Given the description of an element on the screen output the (x, y) to click on. 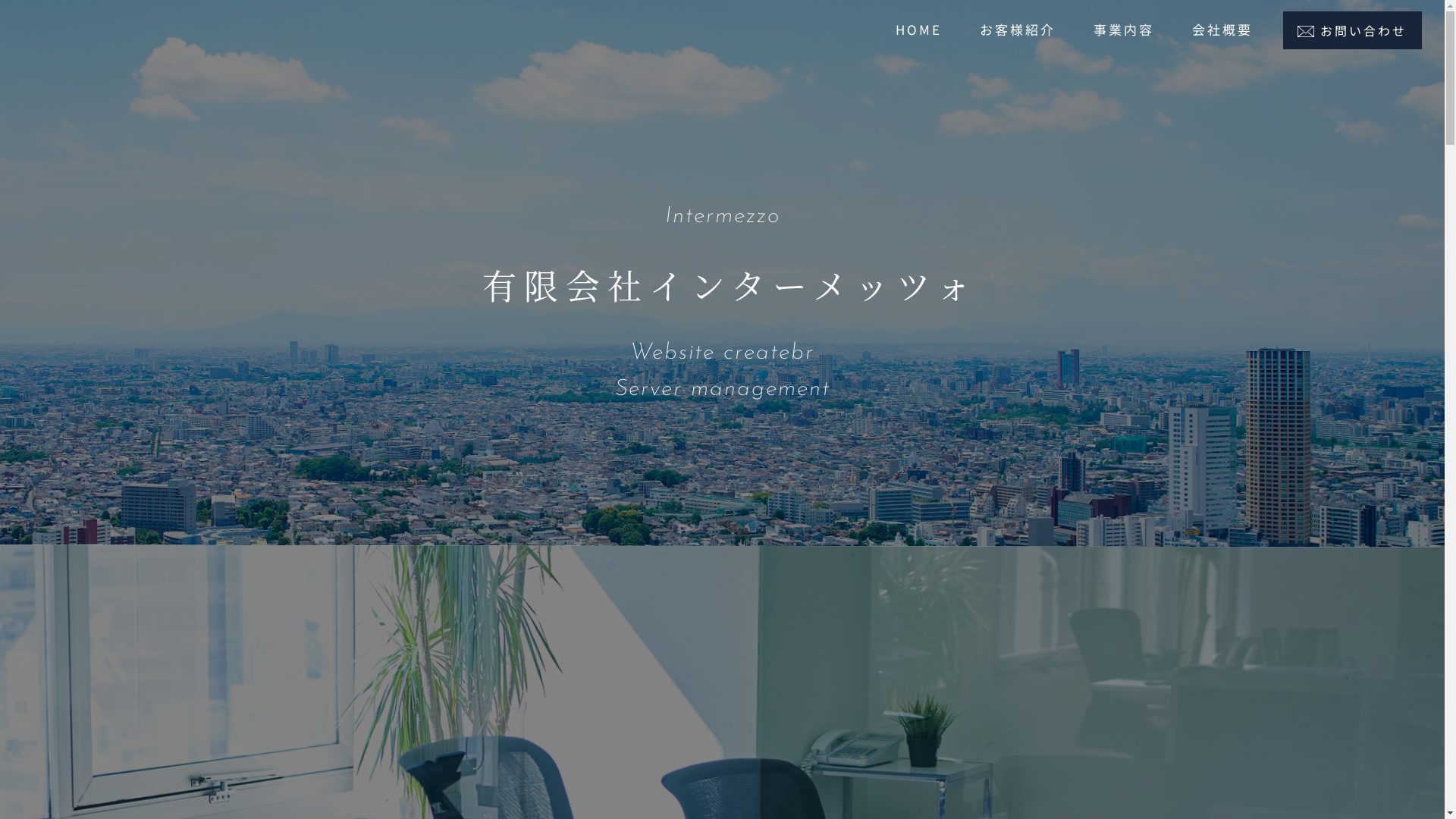
HOME Element type: text (918, 29)
